Given the description of an element on the screen output the (x, y) to click on. 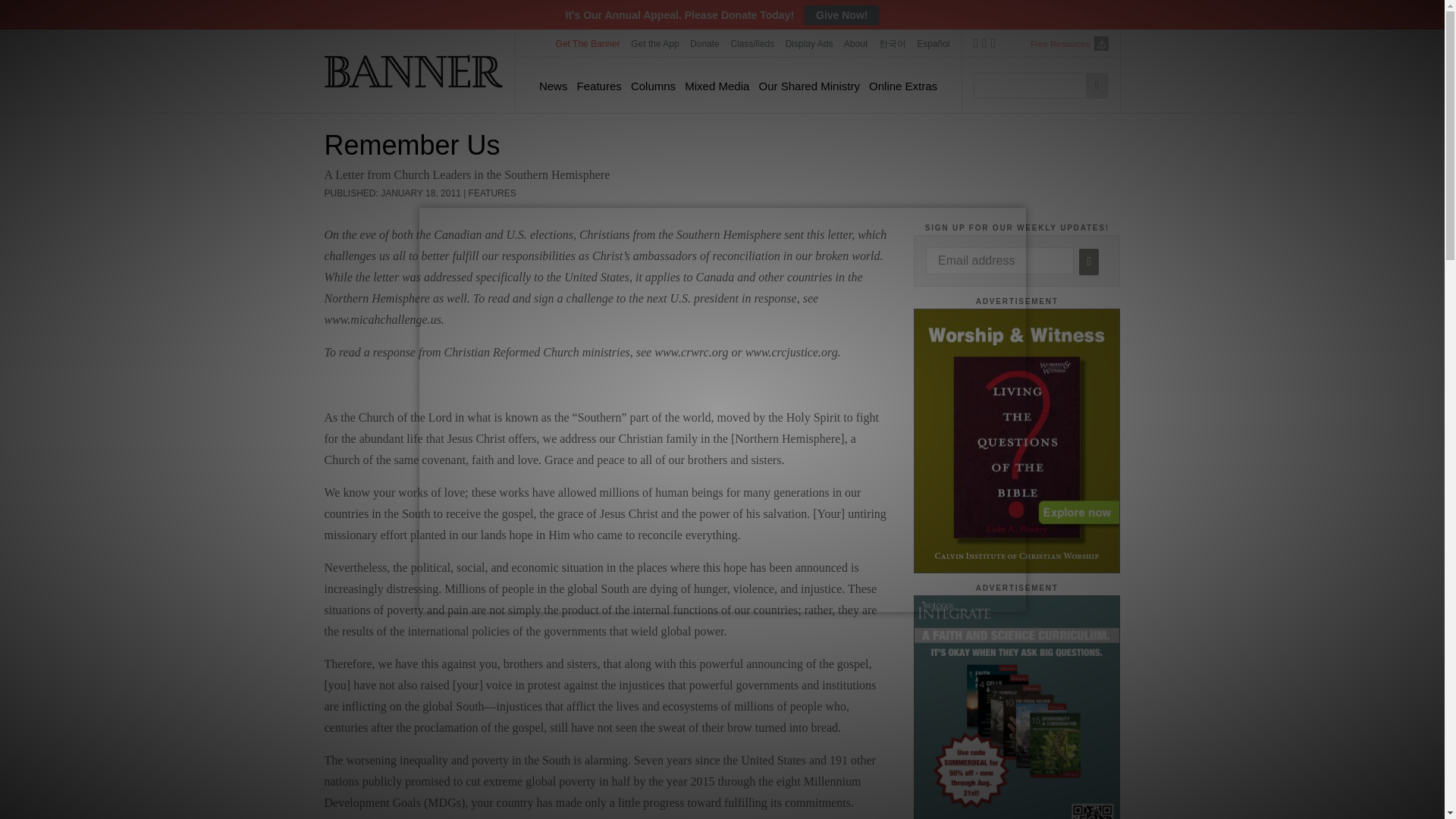
Get The Banner (587, 43)
Home (413, 70)
About (855, 43)
Get the App (654, 43)
crcna.org (1100, 43)
RSS (993, 45)
Columns (652, 85)
Enter the terms you wish to search for. (1035, 85)
News (552, 85)
Features (598, 85)
Classifieds (751, 43)
Search (1097, 85)
Our Shared Ministry (809, 85)
Free Resources (1059, 44)
Online Extras (903, 85)
